Given the description of an element on the screen output the (x, y) to click on. 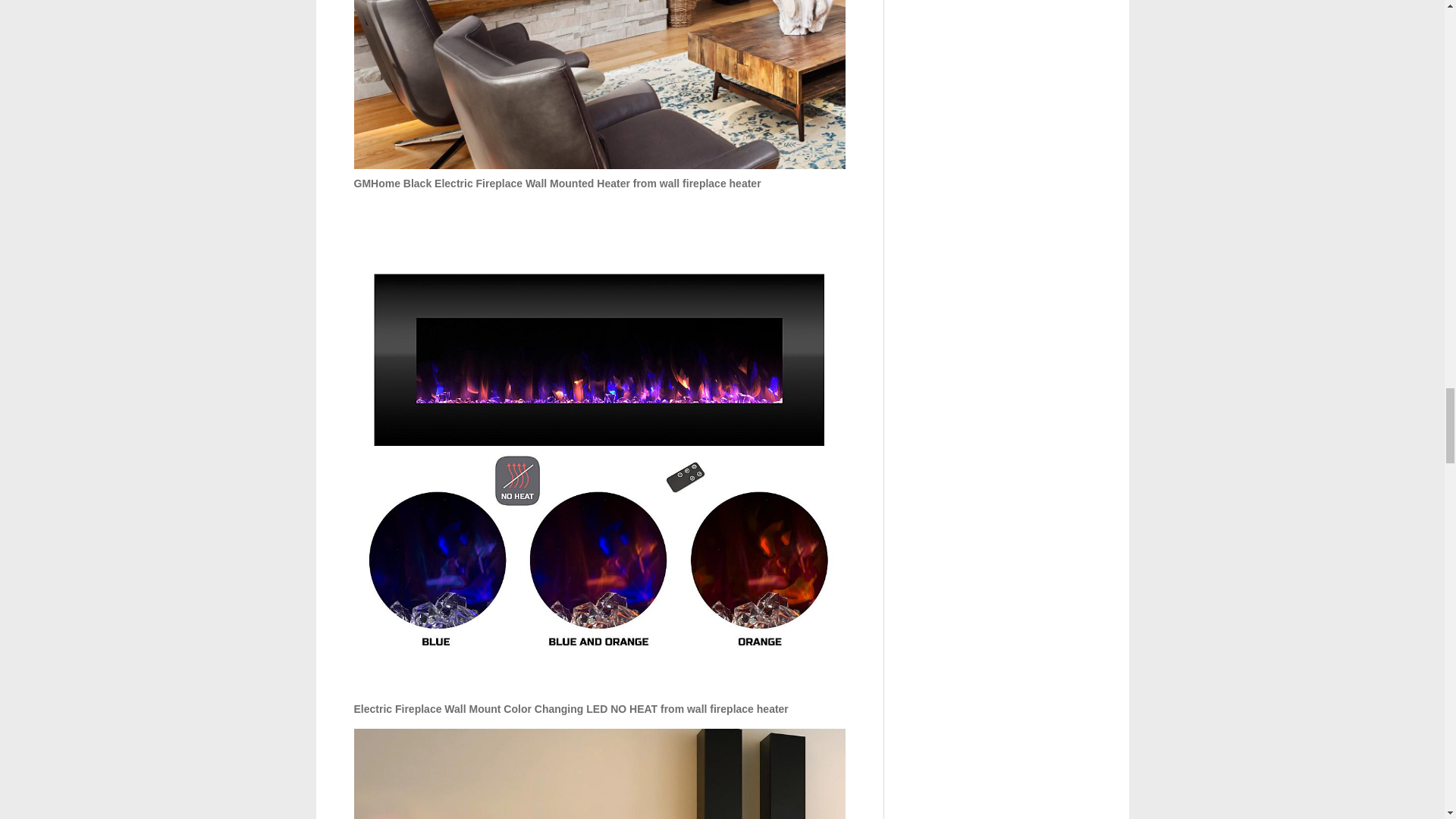
GMHome Black Electric Fireplace Wall Mounted Heater (598, 84)
Pin on Products (598, 773)
